Given the description of an element on the screen output the (x, y) to click on. 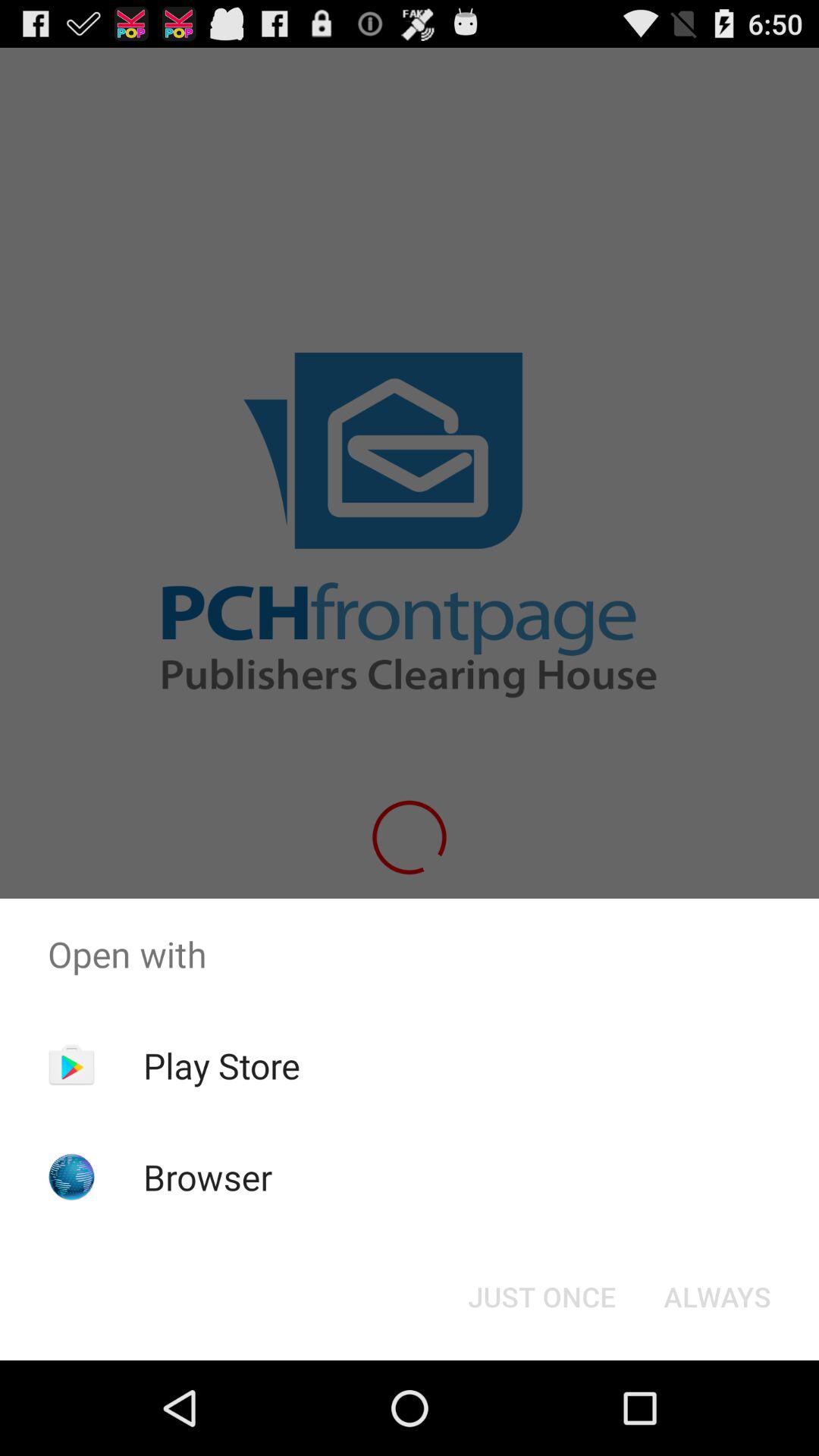
swipe to always icon (717, 1296)
